Given the description of an element on the screen output the (x, y) to click on. 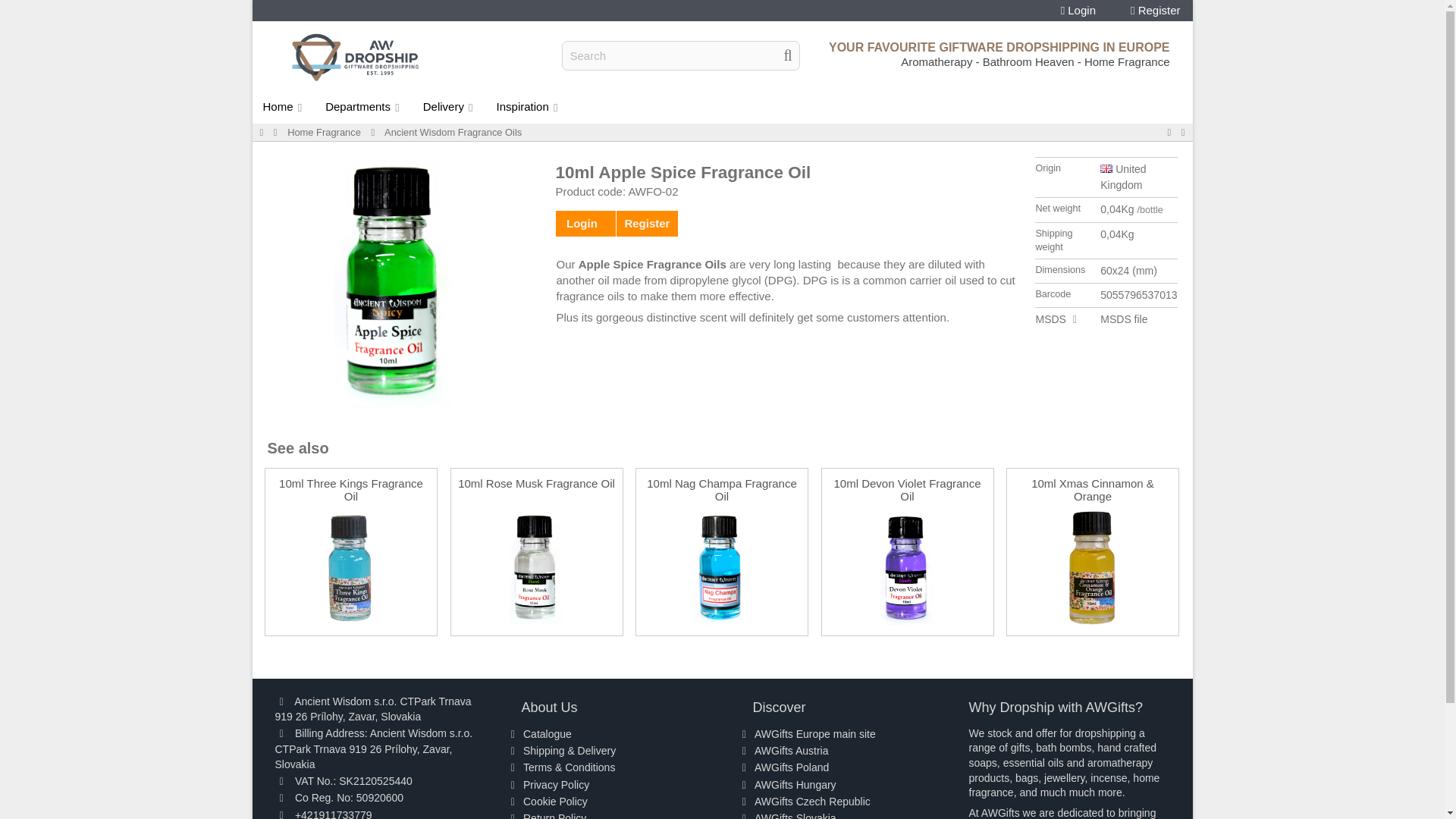
GBR (1106, 167)
Login (1078, 10)
Home (282, 106)
Register (1155, 10)
Delivery (449, 106)
Inspiration (528, 106)
Material safety data sheet (1050, 318)
